Given the description of an element on the screen output the (x, y) to click on. 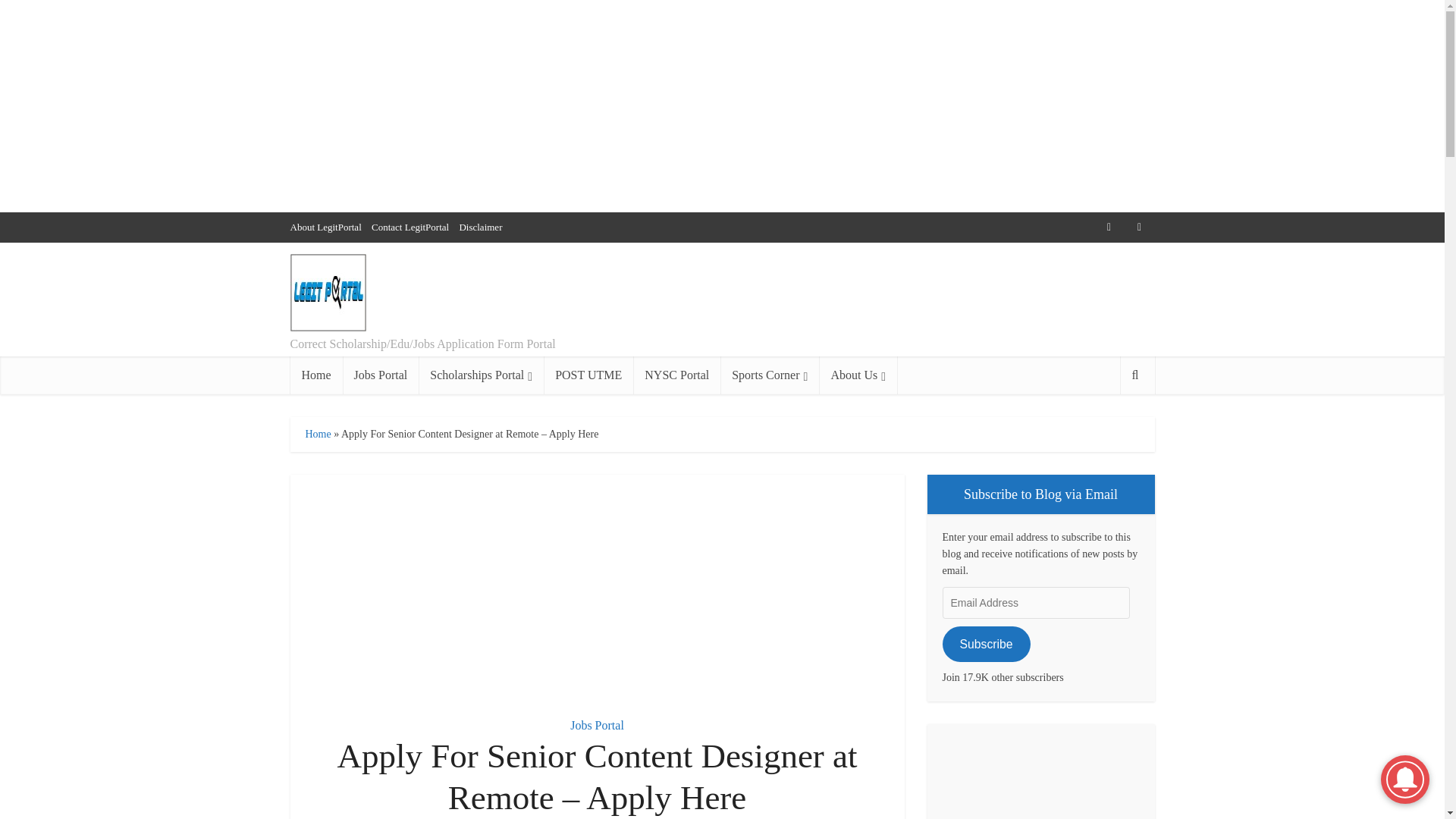
Jobs Portal (597, 725)
Sports Corner (769, 374)
Disclaimer (480, 226)
NYSC Portal (676, 374)
About Us (857, 374)
POST UTME (588, 374)
Contact LegitPortal (409, 226)
Advertisement (596, 586)
Home (315, 374)
Jobs Portal (380, 374)
Legit Portal (327, 292)
Scholarships Portal (481, 374)
Home (317, 433)
About LegitPortal (325, 226)
